Given the description of an element on the screen output the (x, y) to click on. 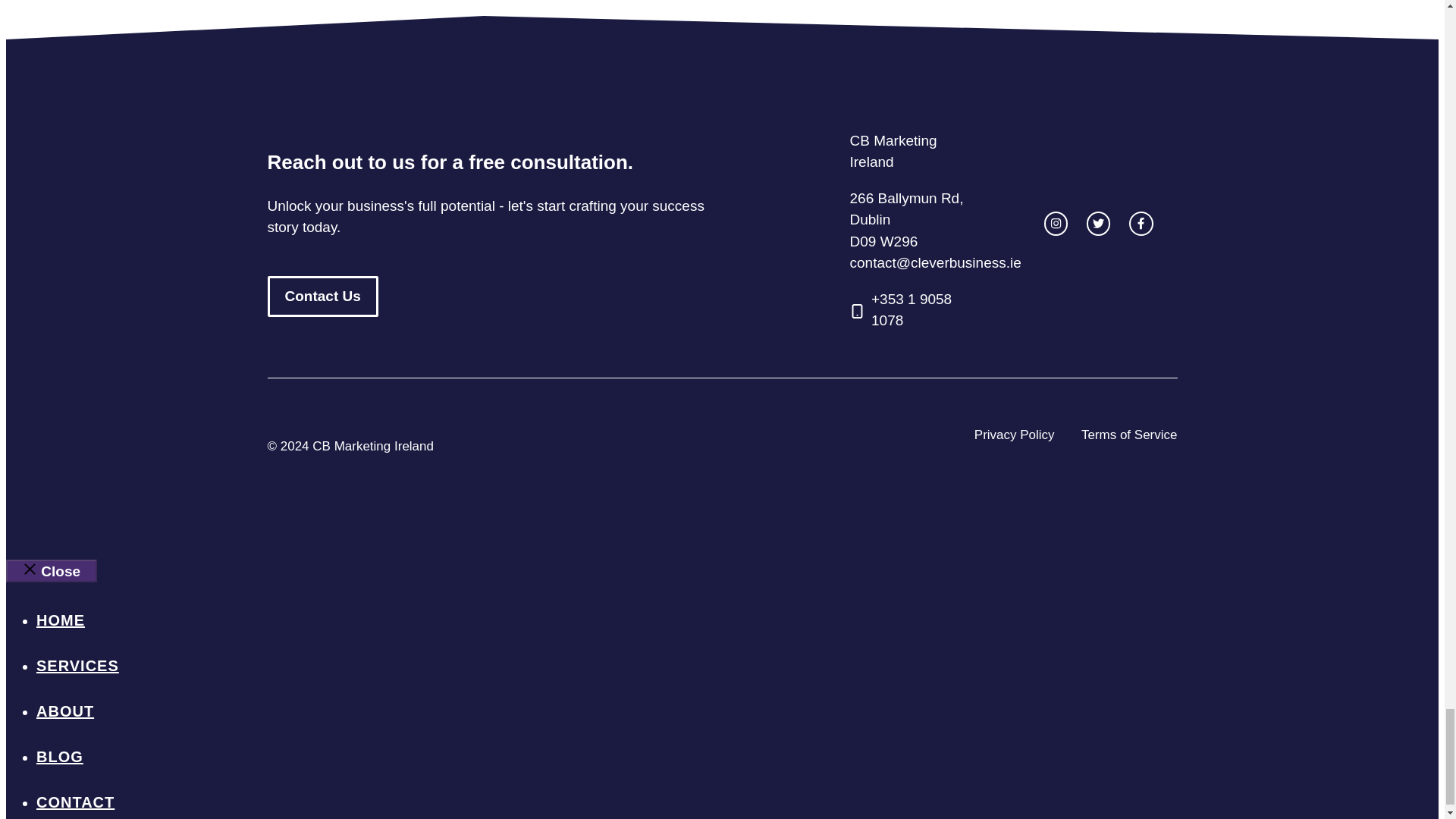
Privacy Policy (1014, 435)
Contact Us (321, 296)
ABOUT (65, 710)
Close (51, 570)
BLOG (59, 756)
CONTACT (75, 801)
SERVICES (77, 665)
Terms of Service (1129, 435)
HOME (60, 619)
